Given the description of an element on the screen output the (x, y) to click on. 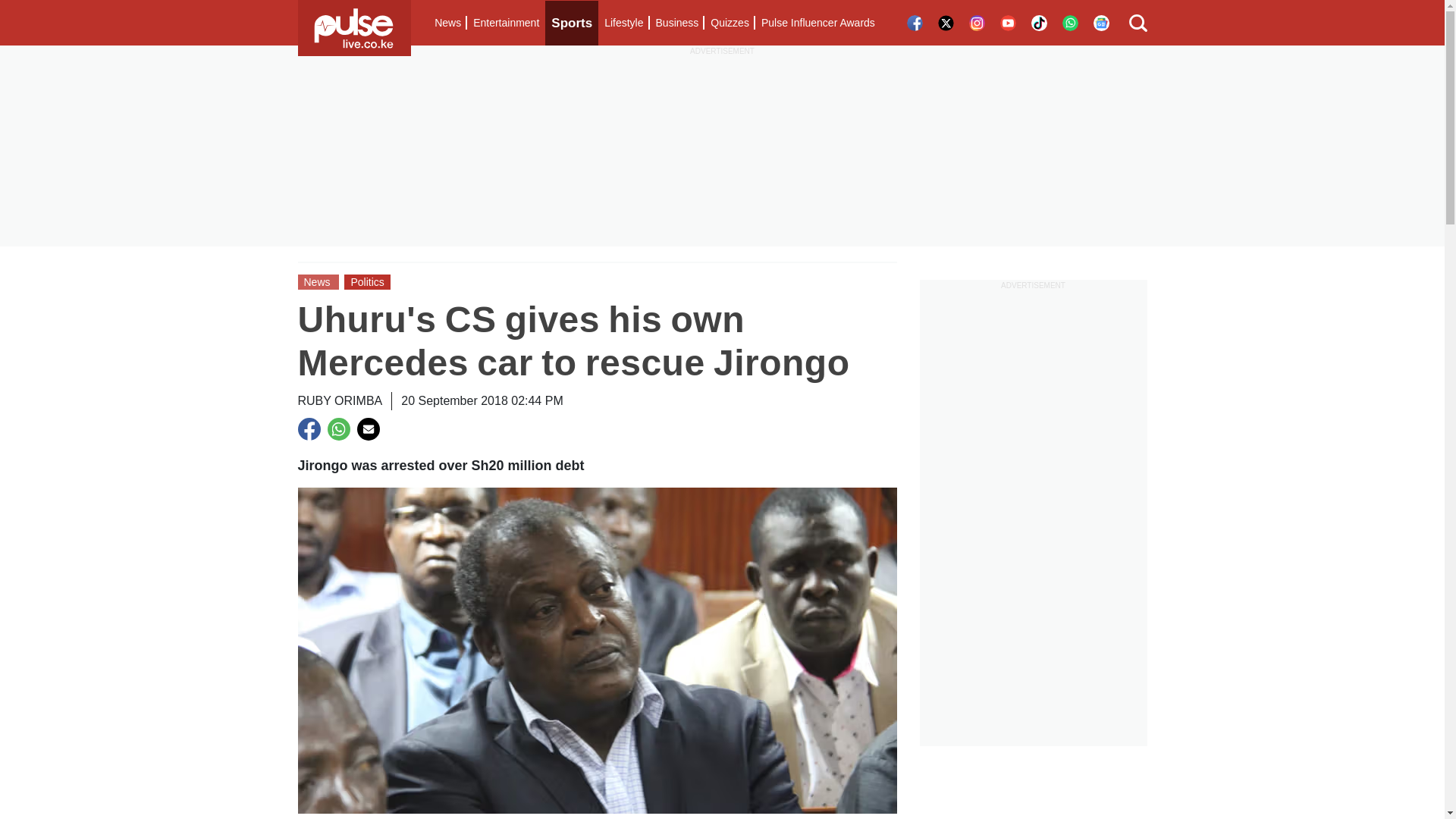
Quizzes (729, 22)
Entertainment (505, 22)
Pulse Influencer Awards (817, 22)
Business (676, 22)
Sports (571, 22)
Lifestyle (623, 22)
